Given the description of an element on the screen output the (x, y) to click on. 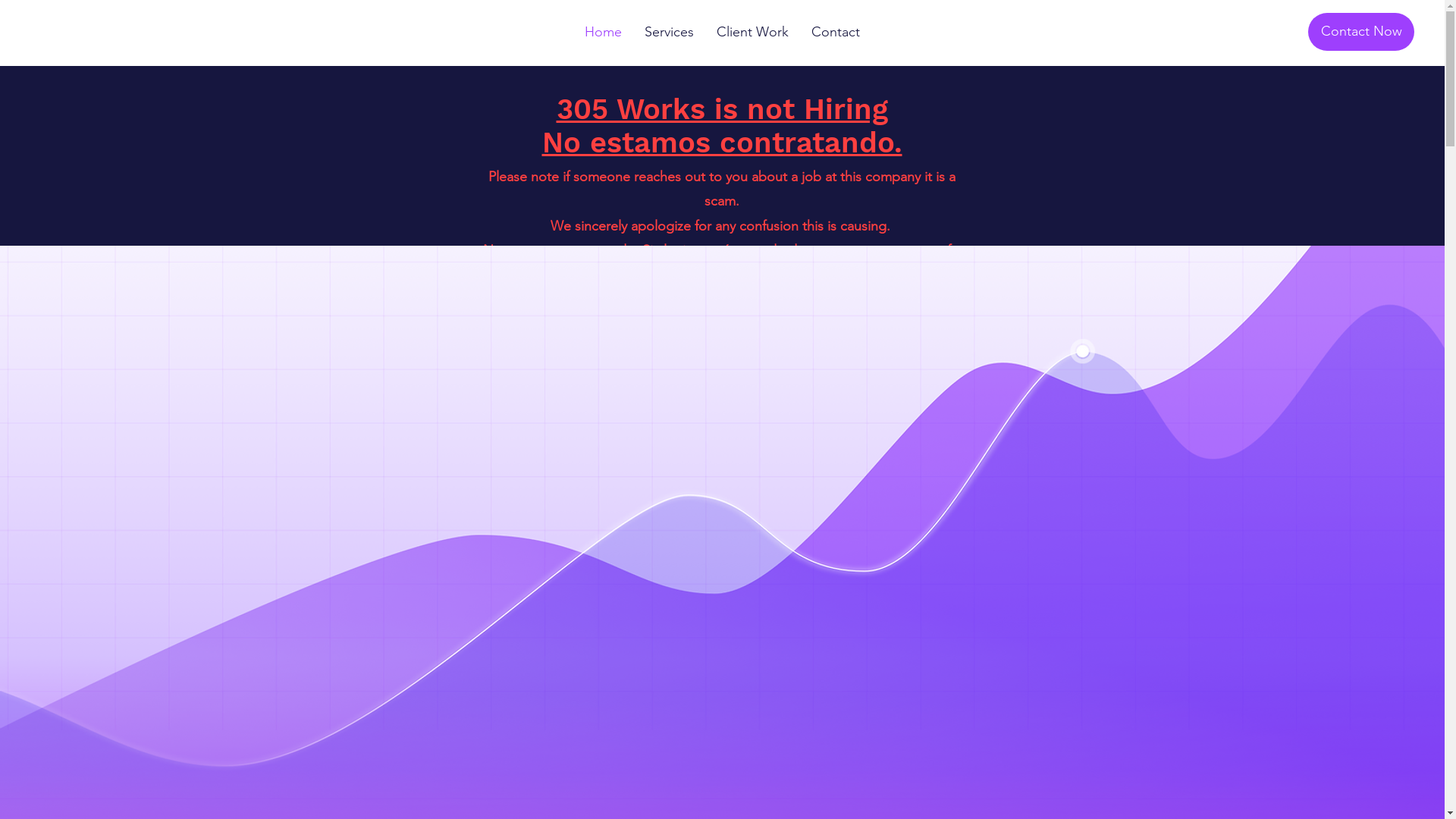
Services Element type: text (669, 31)
Home Element type: text (603, 31)
Client Work Element type: text (752, 31)
Contact Element type: text (835, 31)
Contact Now Element type: text (1361, 31)
